Given the description of an element on the screen output the (x, y) to click on. 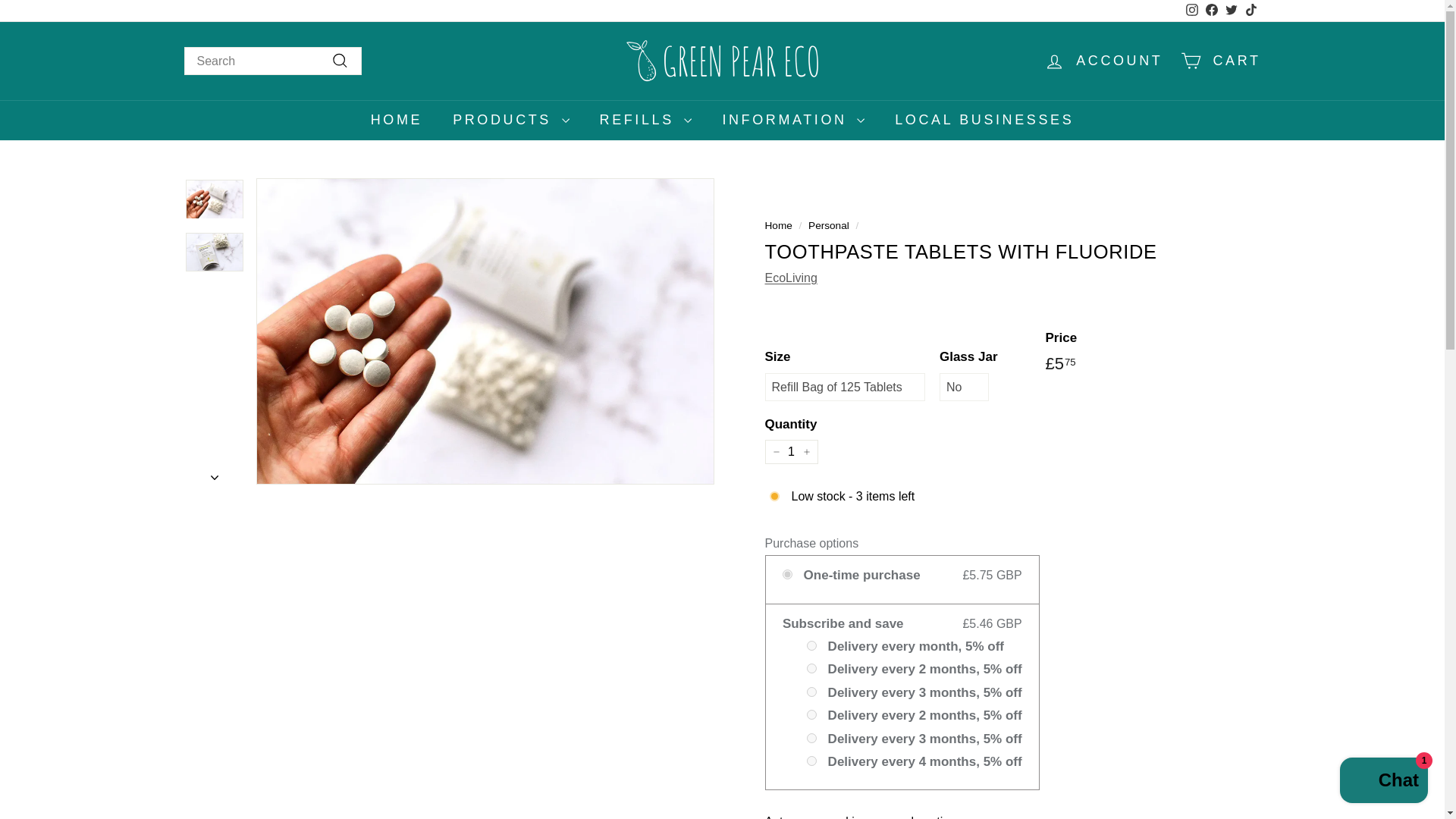
ACCOUNT (1103, 60)
Green Pear Eco on Twitter (1230, 10)
on (787, 574)
Green Pear Eco on Facebook (1211, 10)
Back to the frontpage (778, 225)
twitter (1231, 9)
on (811, 737)
HOME (396, 119)
on (1190, 10)
on (811, 714)
CART (811, 645)
instagram (1220, 60)
